Given the description of an element on the screen output the (x, y) to click on. 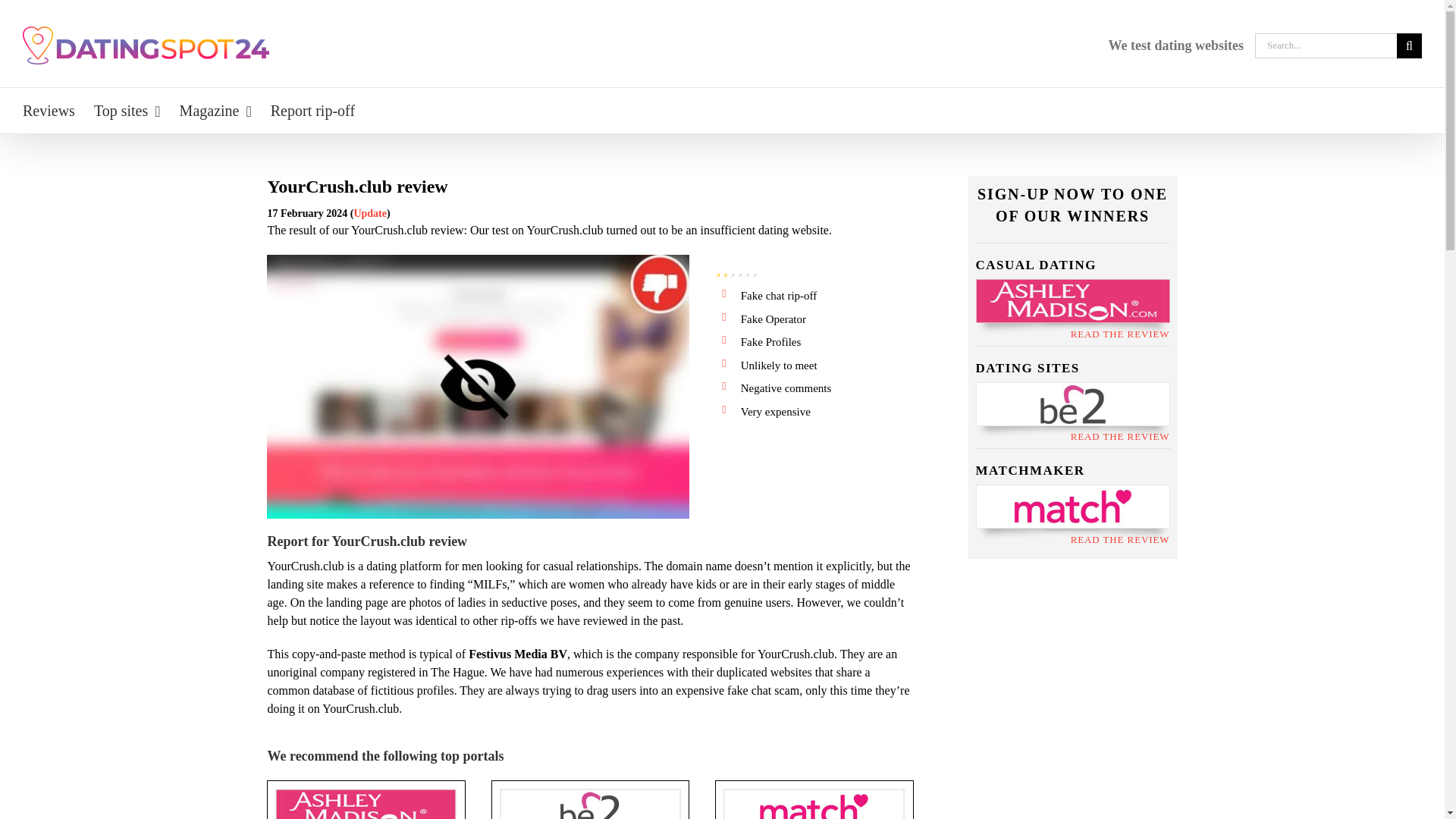
Review YourCrush.club Scam (477, 386)
Top sites (127, 110)
Report rip-off (312, 110)
Reviews (49, 110)
Magazine (215, 110)
